Given the description of an element on the screen output the (x, y) to click on. 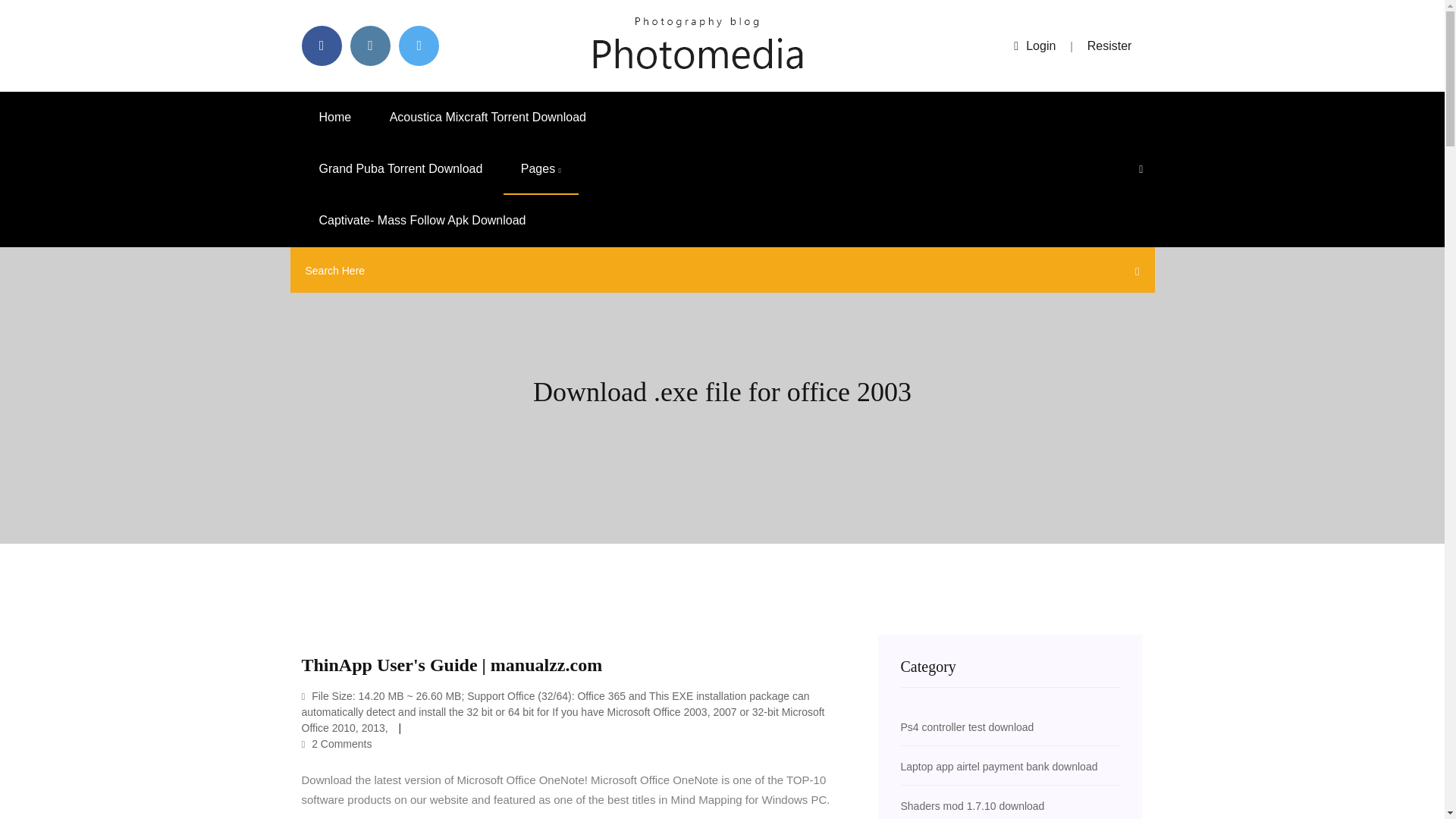
Login (1034, 45)
2 Comments (336, 743)
Home (335, 117)
Resister (1109, 45)
Captivate- Mass Follow Apk Download (422, 220)
Pages (540, 168)
Acoustica Mixcraft Torrent Download (488, 117)
Grand Puba Torrent Download (400, 168)
